Given the description of an element on the screen output the (x, y) to click on. 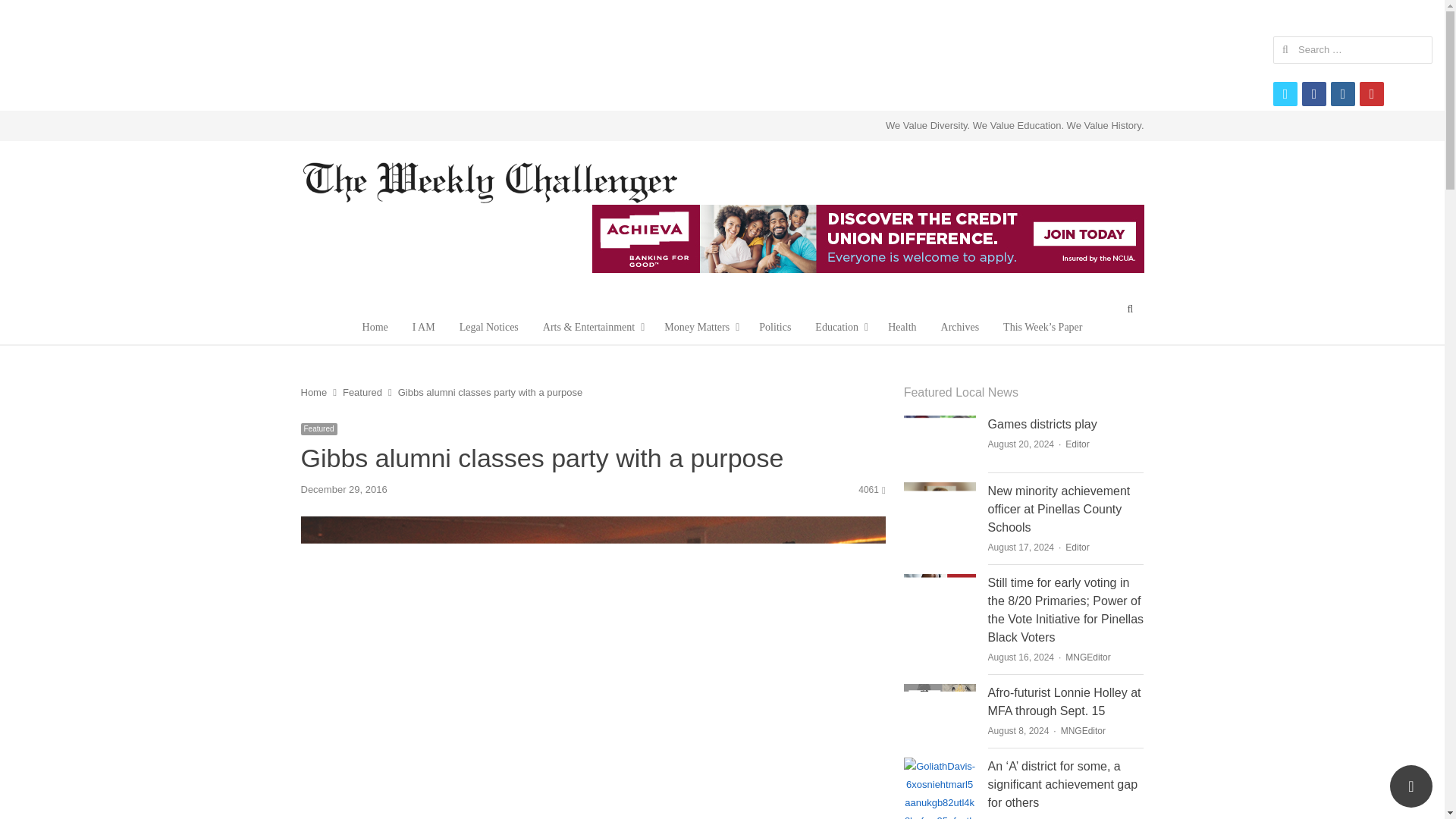
Home (312, 392)
Money Matters (699, 327)
Archives (959, 327)
Legal Notices (488, 327)
Health (902, 327)
advertisement (721, 52)
Home (375, 327)
Featured (361, 392)
Open search panel (1129, 308)
scroll to top (1411, 785)
